Given the description of an element on the screen output the (x, y) to click on. 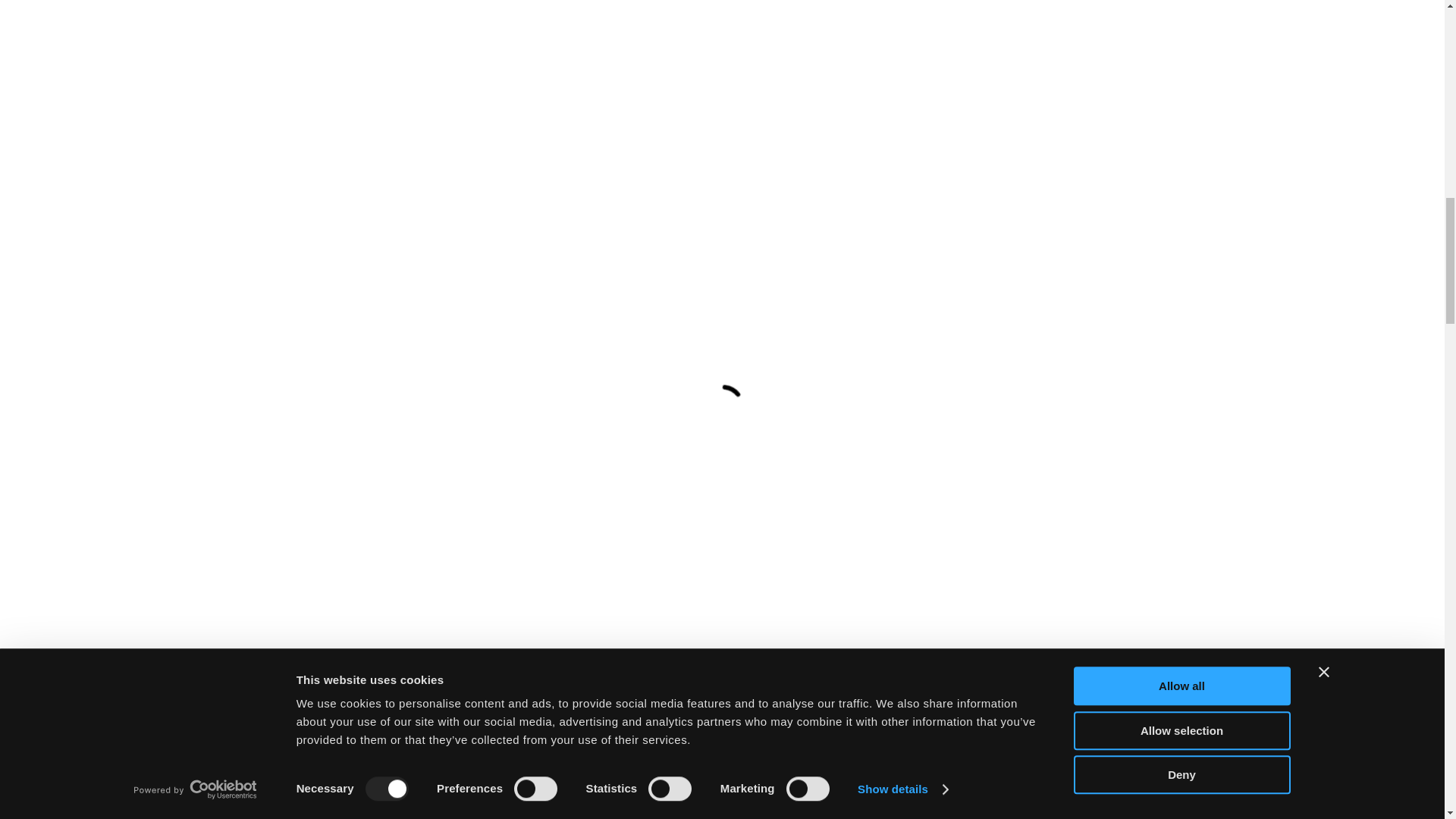
Navigate to the next section Element type: text (721, 538)
HOME Element type: text (420, 107)
NEWS & PUBLICATIONS Element type: text (898, 107)
About us Element type: text (365, 313)
On this page: Element type: text (285, 313)
FIRM & PEOPLE Element type: text (508, 107)
Careers Element type: text (489, 313)
CONTACT Element type: text (1014, 107)
EXPERTISE & TRACK RECORD Element type: text (658, 107)
People Element type: text (428, 313)
EVENTS Element type: text (785, 107)
